Given the description of an element on the screen output the (x, y) to click on. 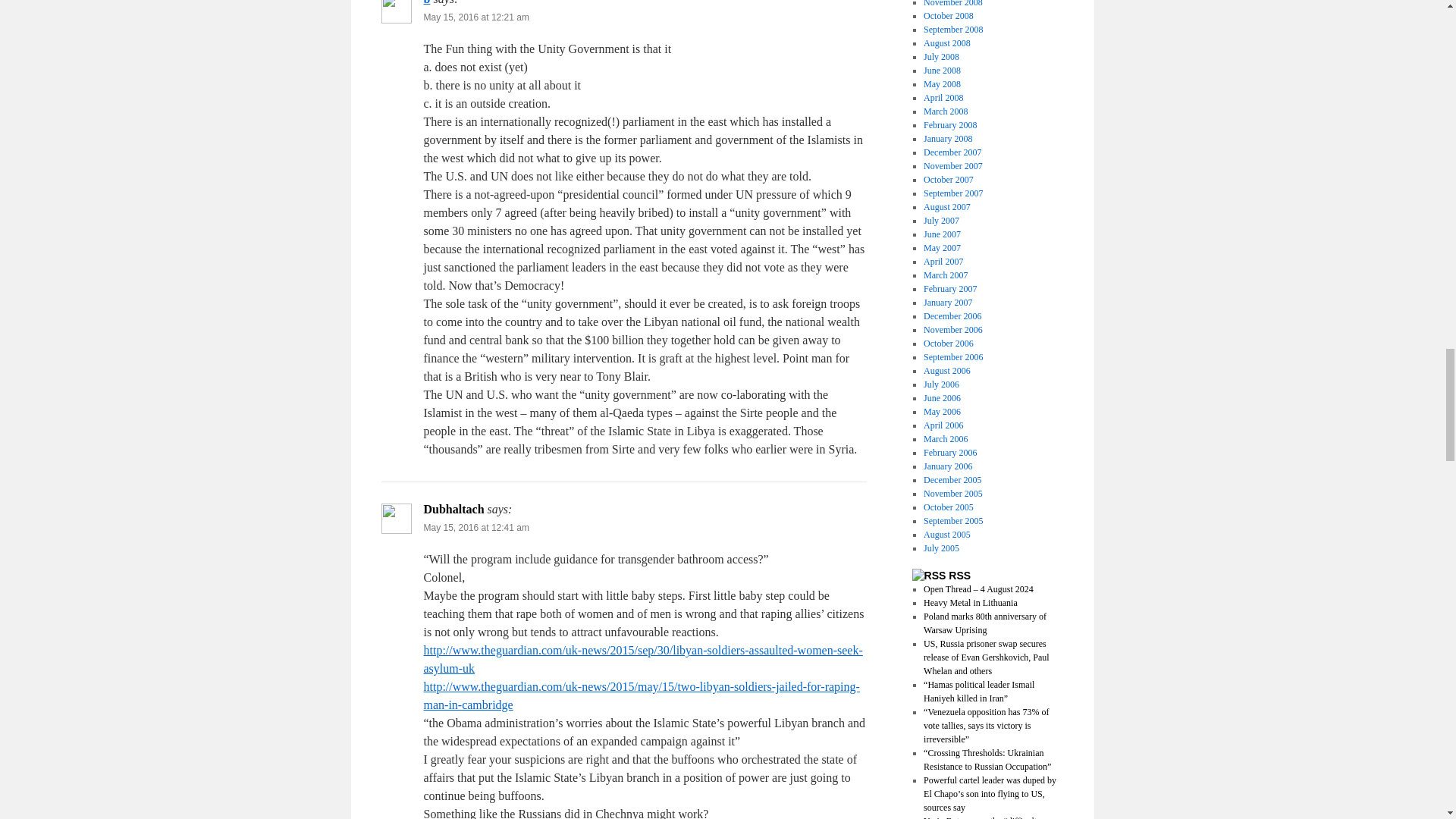
May 15, 2016 at 12:21 am (475, 17)
May 15, 2016 at 12:41 am (475, 527)
